Given the description of an element on the screen output the (x, y) to click on. 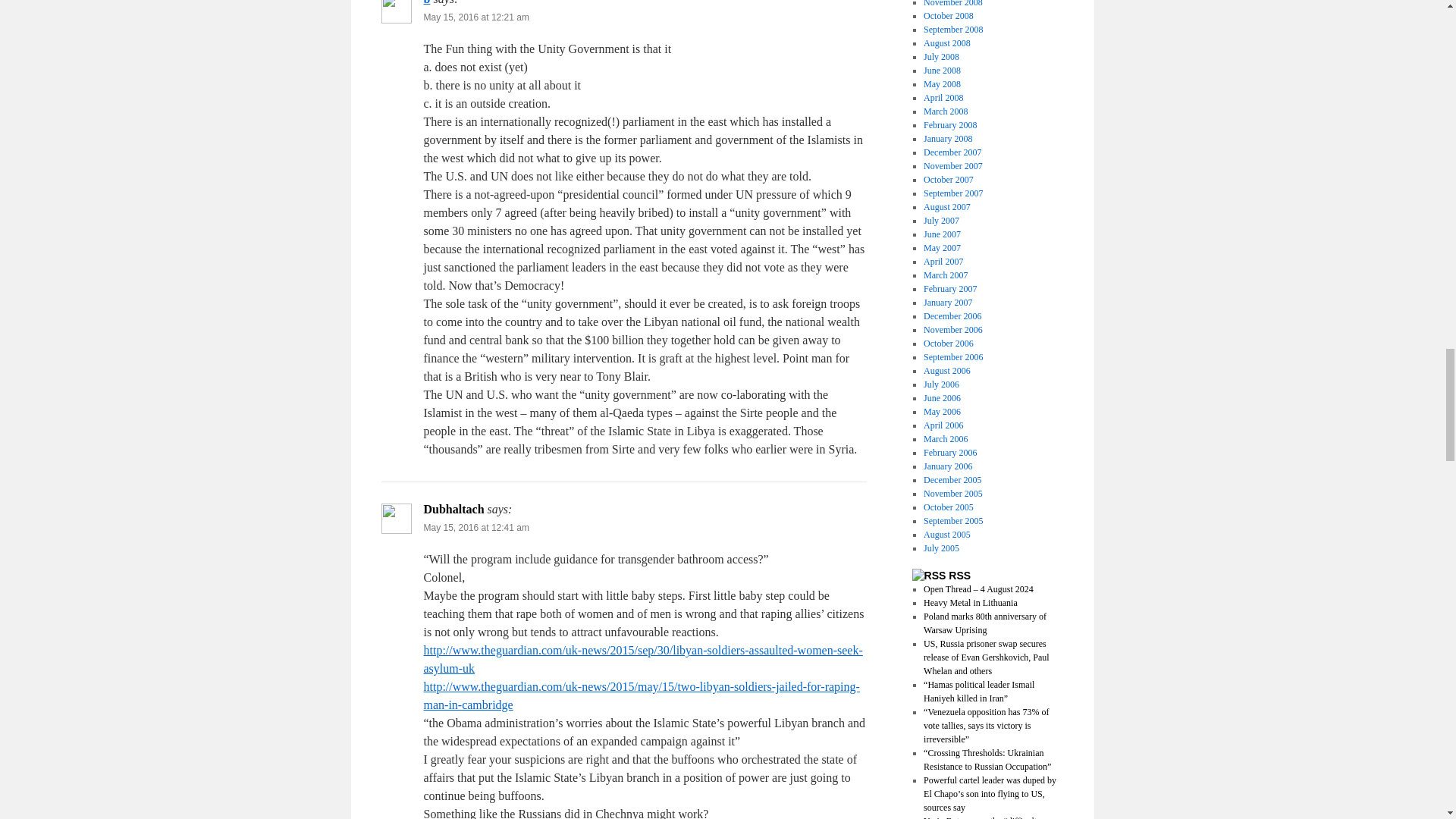
May 15, 2016 at 12:21 am (475, 17)
May 15, 2016 at 12:41 am (475, 527)
